Given the description of an element on the screen output the (x, y) to click on. 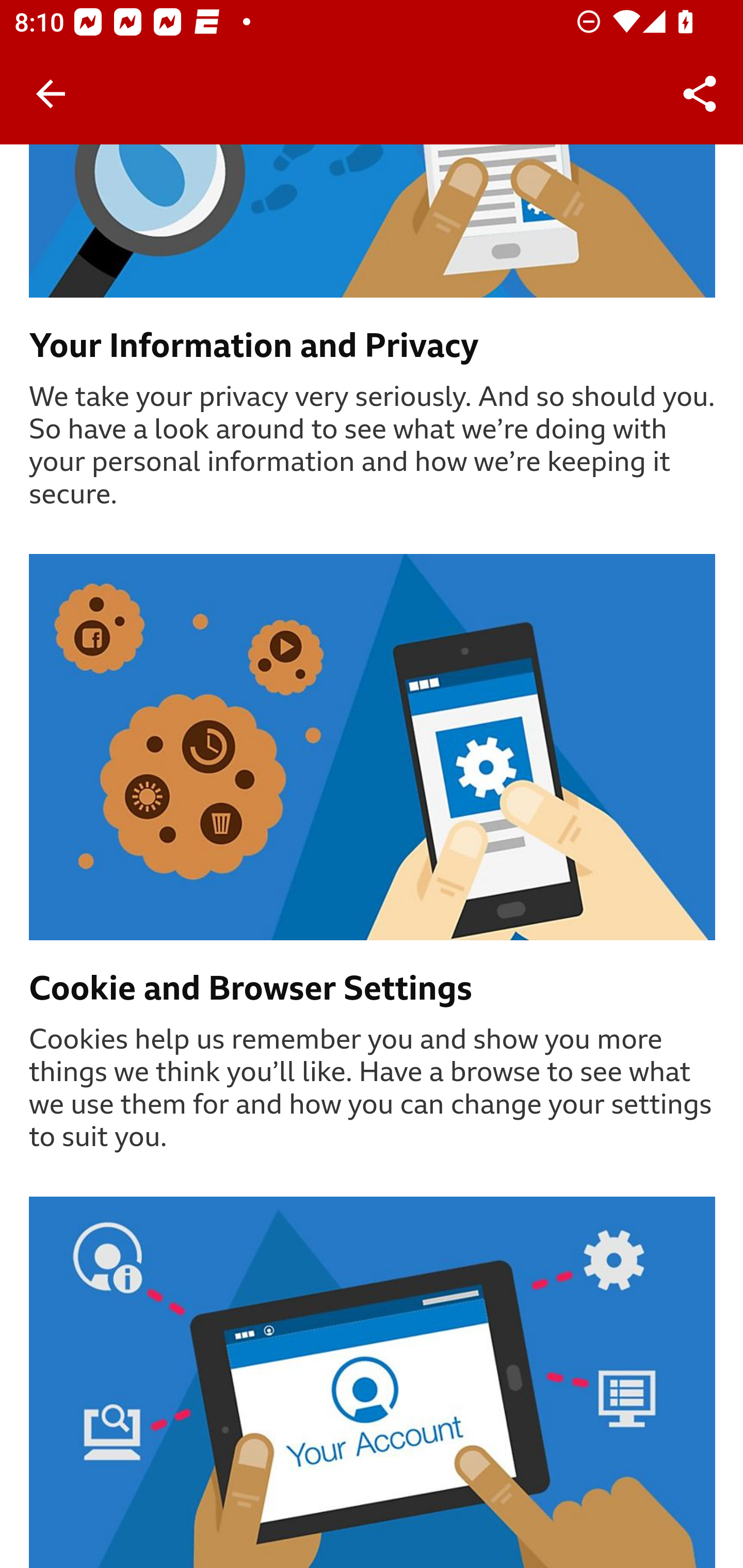
Back (50, 93)
Share (699, 93)
Your Information and Privacy (372, 347)
Cookie and Browser Settings (372, 989)
